Given the description of an element on the screen output the (x, y) to click on. 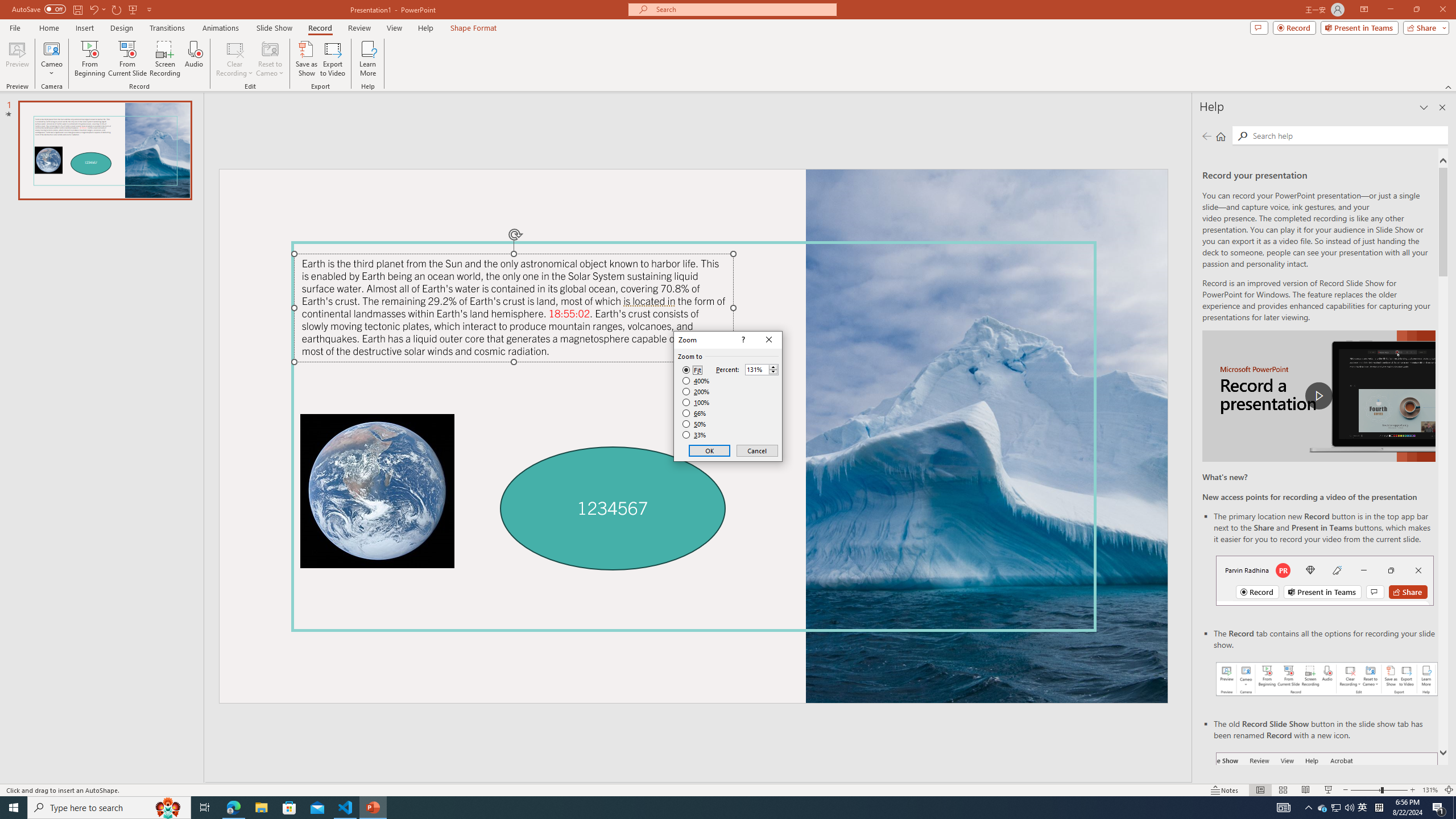
play Record a Presentation (1318, 395)
200% (696, 391)
